Given the description of an element on the screen output the (x, y) to click on. 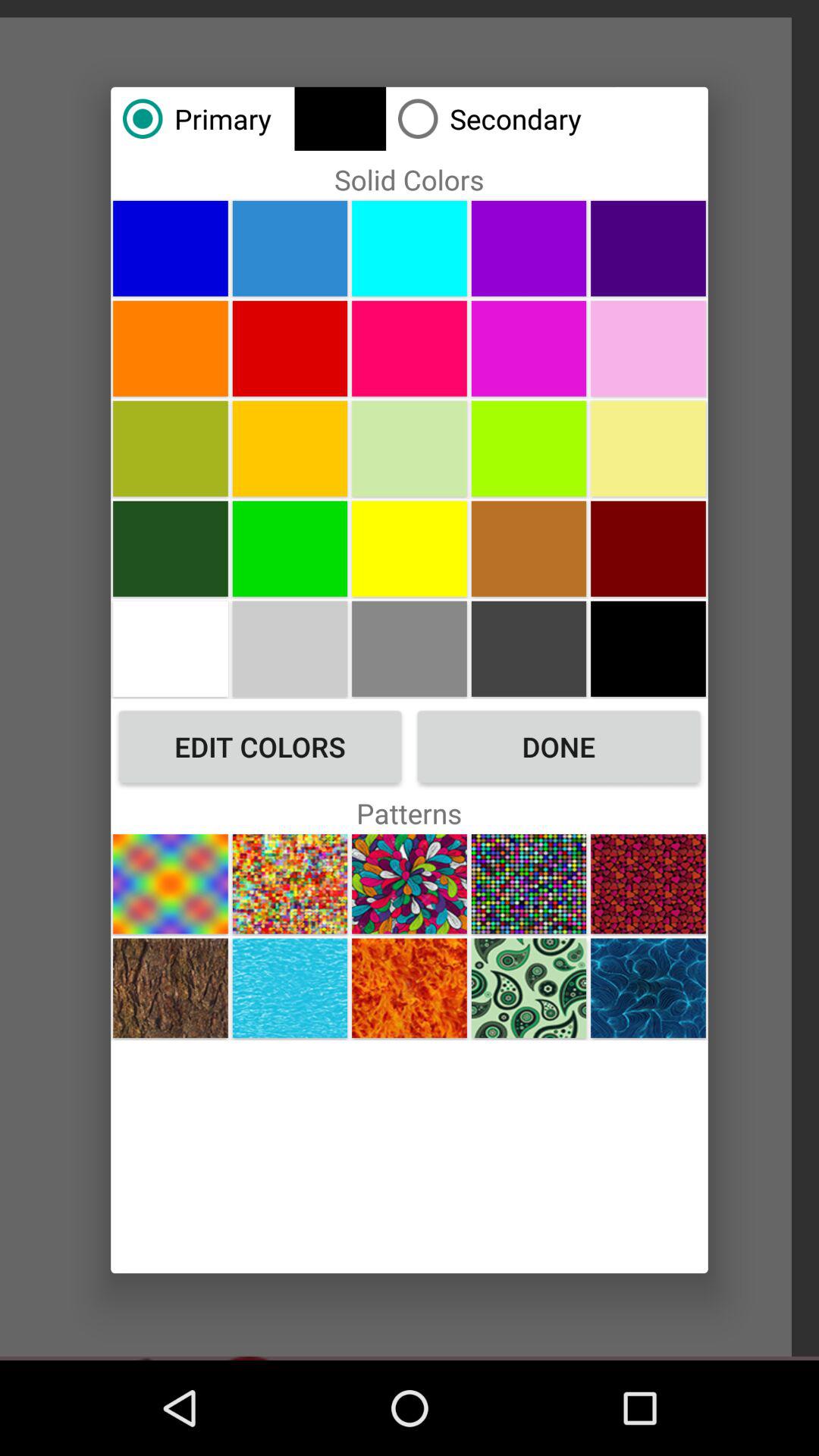
choose ultraviolet color (528, 348)
